Given the description of an element on the screen output the (x, y) to click on. 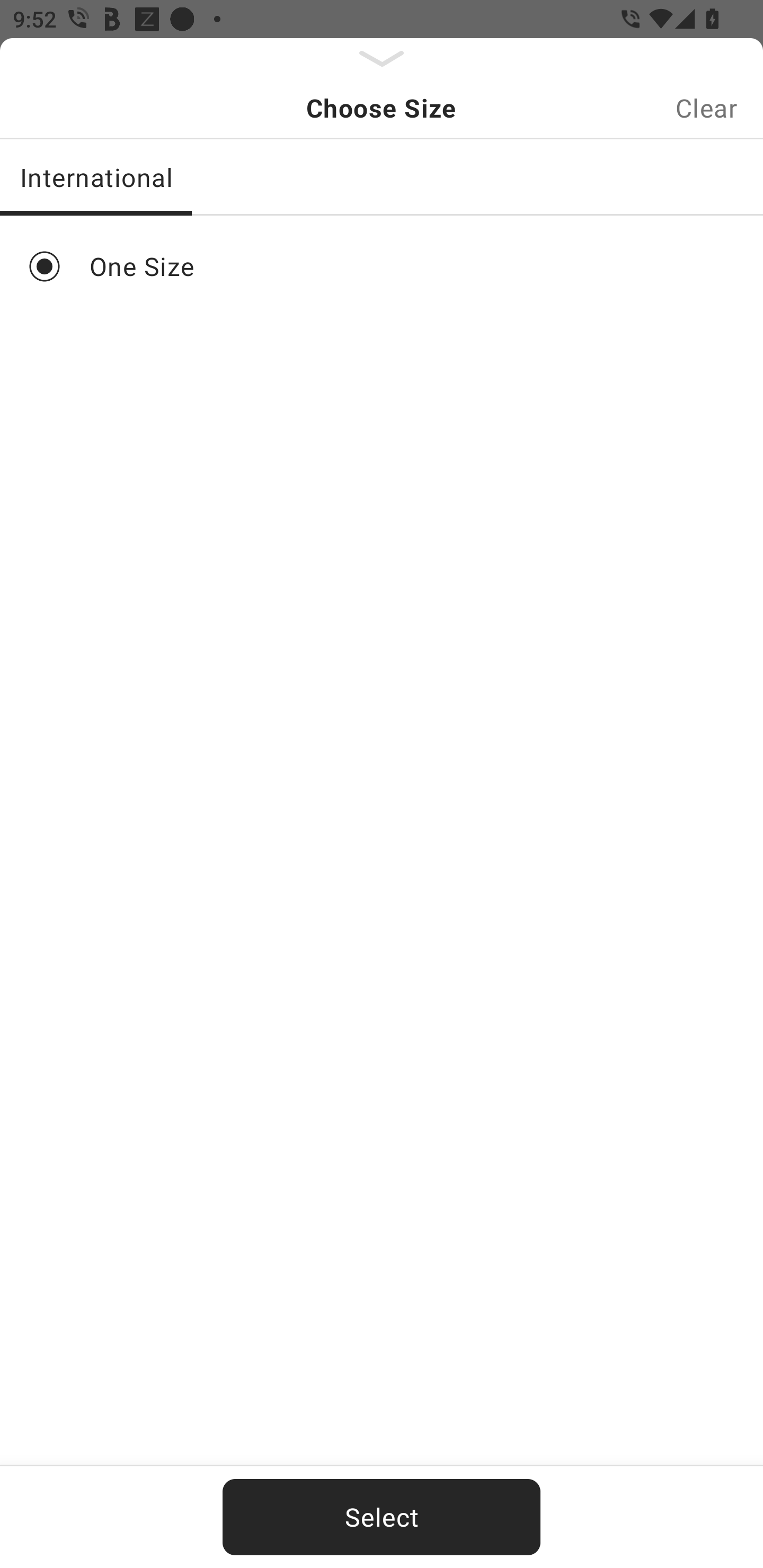
Clear (706, 107)
One Size (381, 266)
Select (381, 1516)
